Given the description of an element on the screen output the (x, y) to click on. 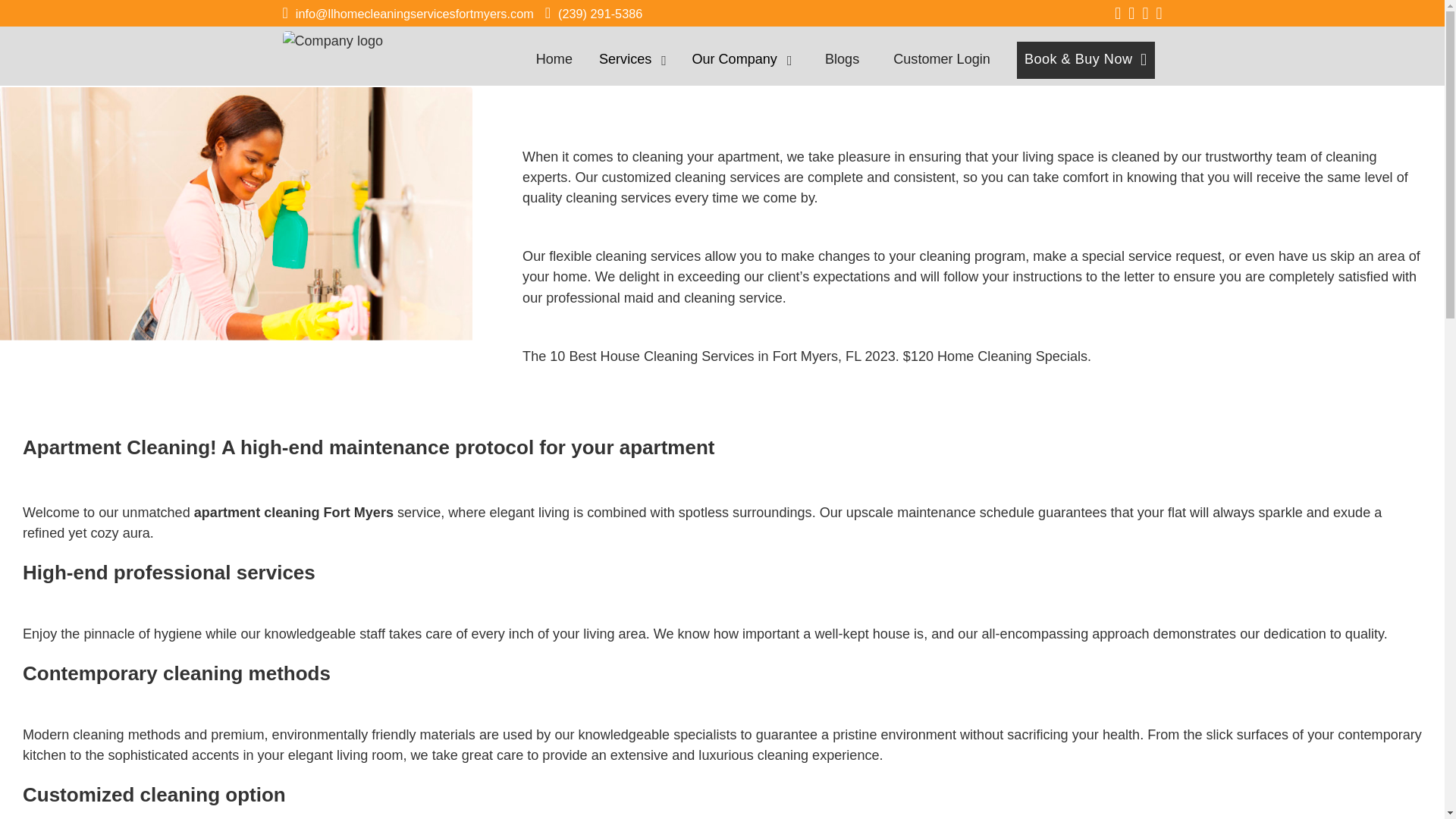
Blogs (842, 60)
Home (554, 60)
Customer Login (941, 60)
Our Company (734, 60)
Services (624, 60)
